Given the description of an element on the screen output the (x, y) to click on. 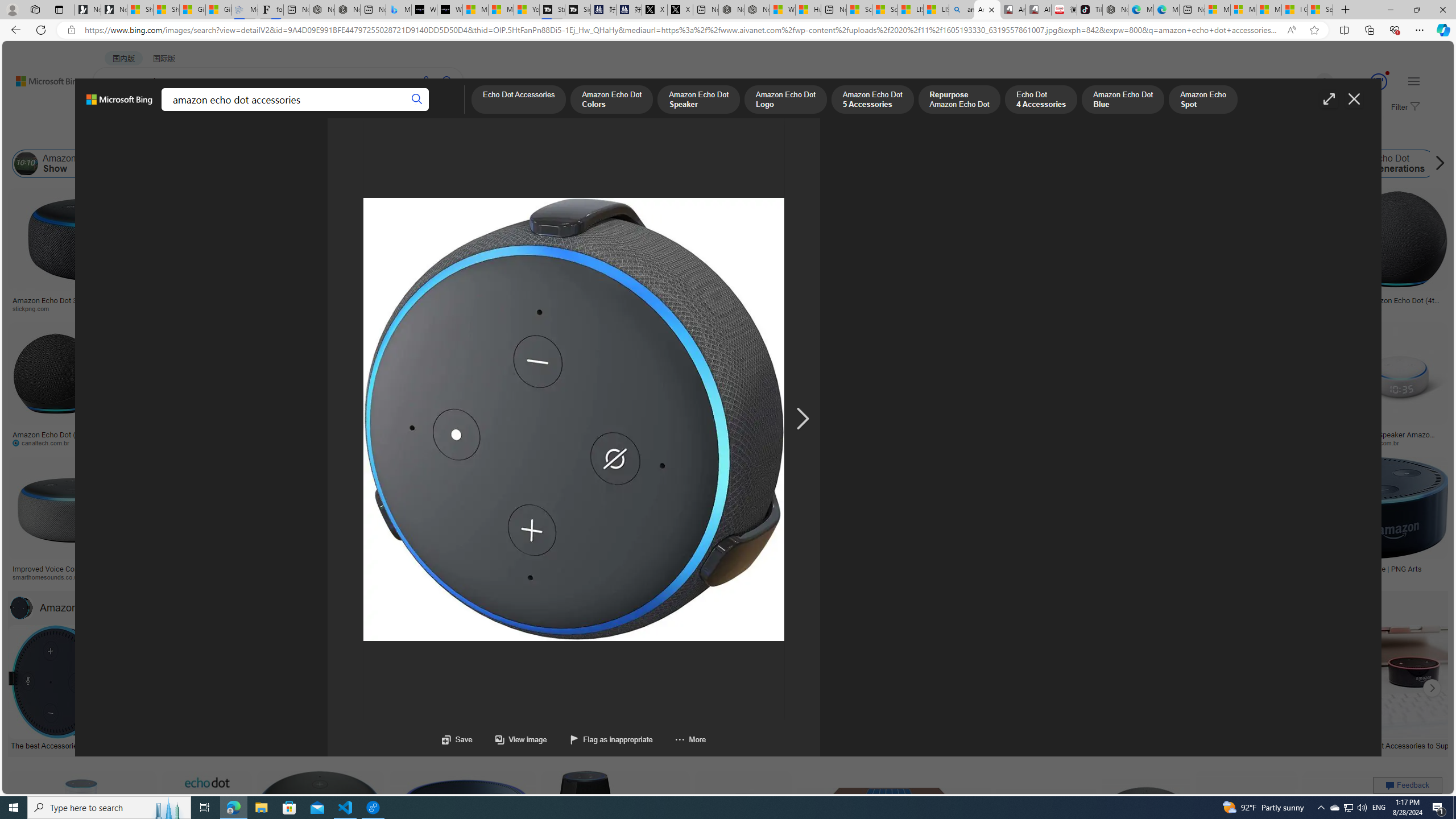
VIDEOS (260, 111)
Class: medal-svg-animation (1378, 81)
Amazon Echo Dot With Clock Review | Security.org (249, 568)
Amazon Echo Dot 4th Gen (565, 227)
Amazon Echo Dot Png 542 Download (783, 303)
pngarts.com (1366, 576)
